Given the description of an element on the screen output the (x, y) to click on. 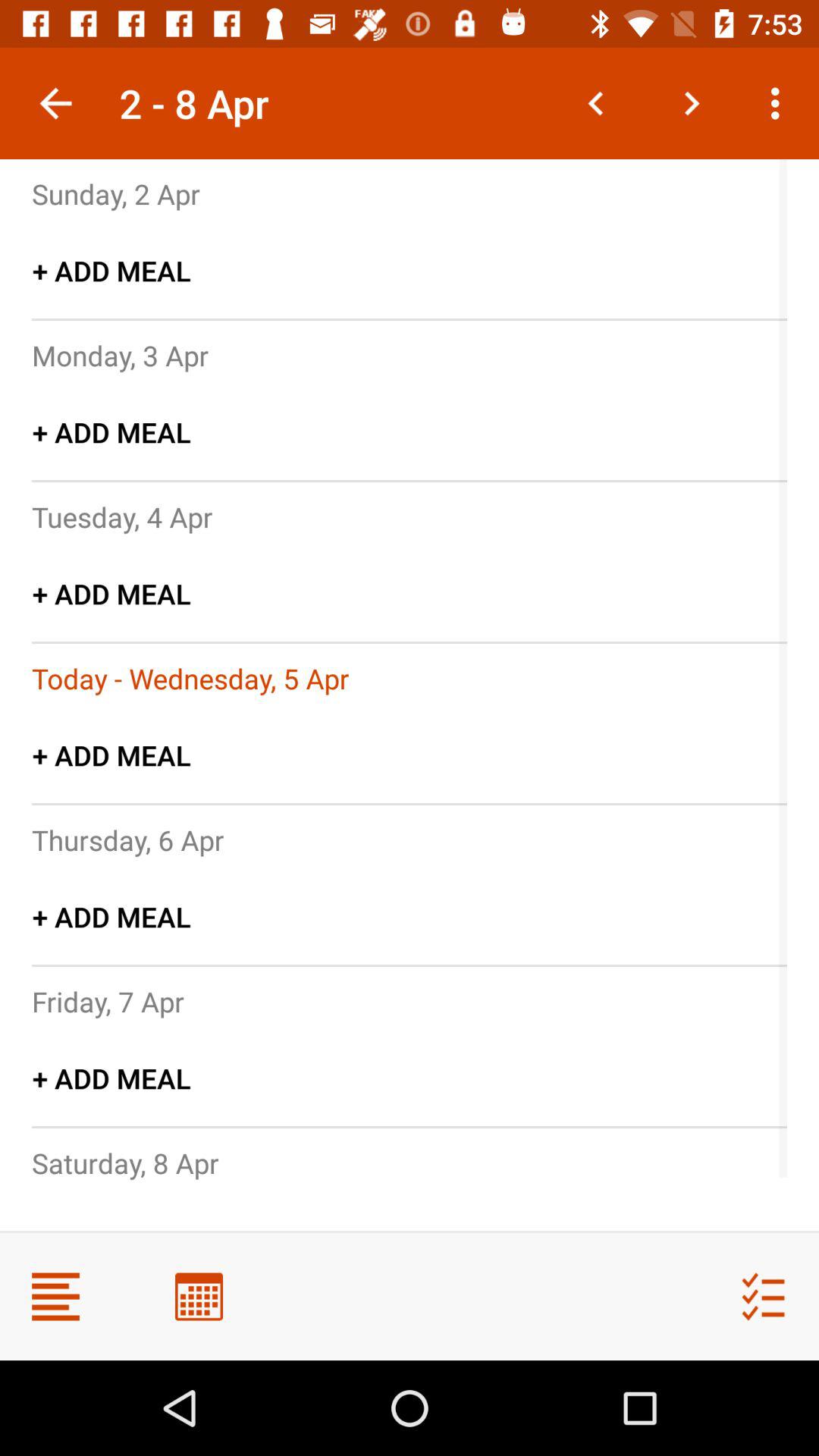
press the item to the left of the 2 - 8 apr item (55, 103)
